Given the description of an element on the screen output the (x, y) to click on. 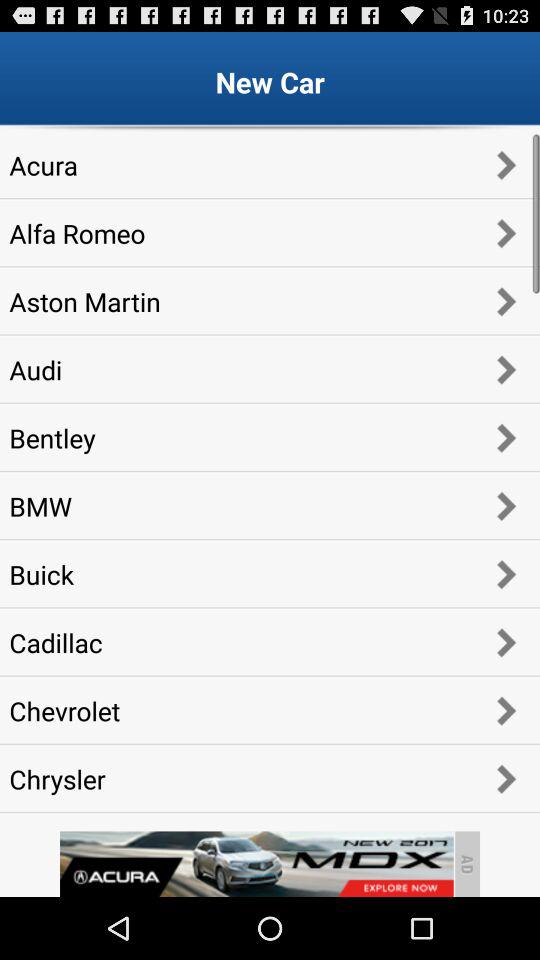
click advertisement (256, 864)
